Given the description of an element on the screen output the (x, y) to click on. 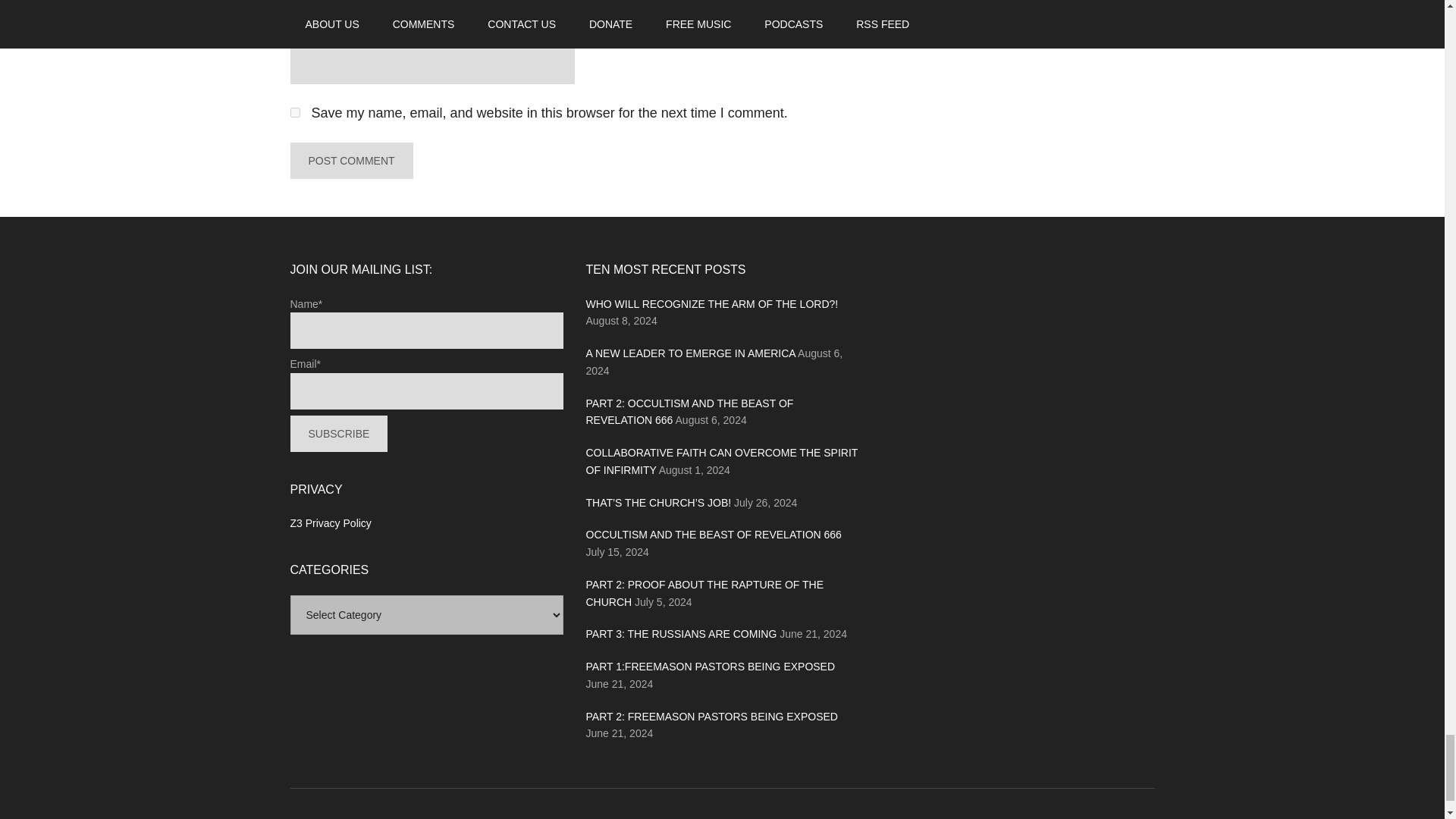
Post Comment (350, 160)
Subscribe (338, 433)
yes (294, 112)
